Given the description of an element on the screen output the (x, y) to click on. 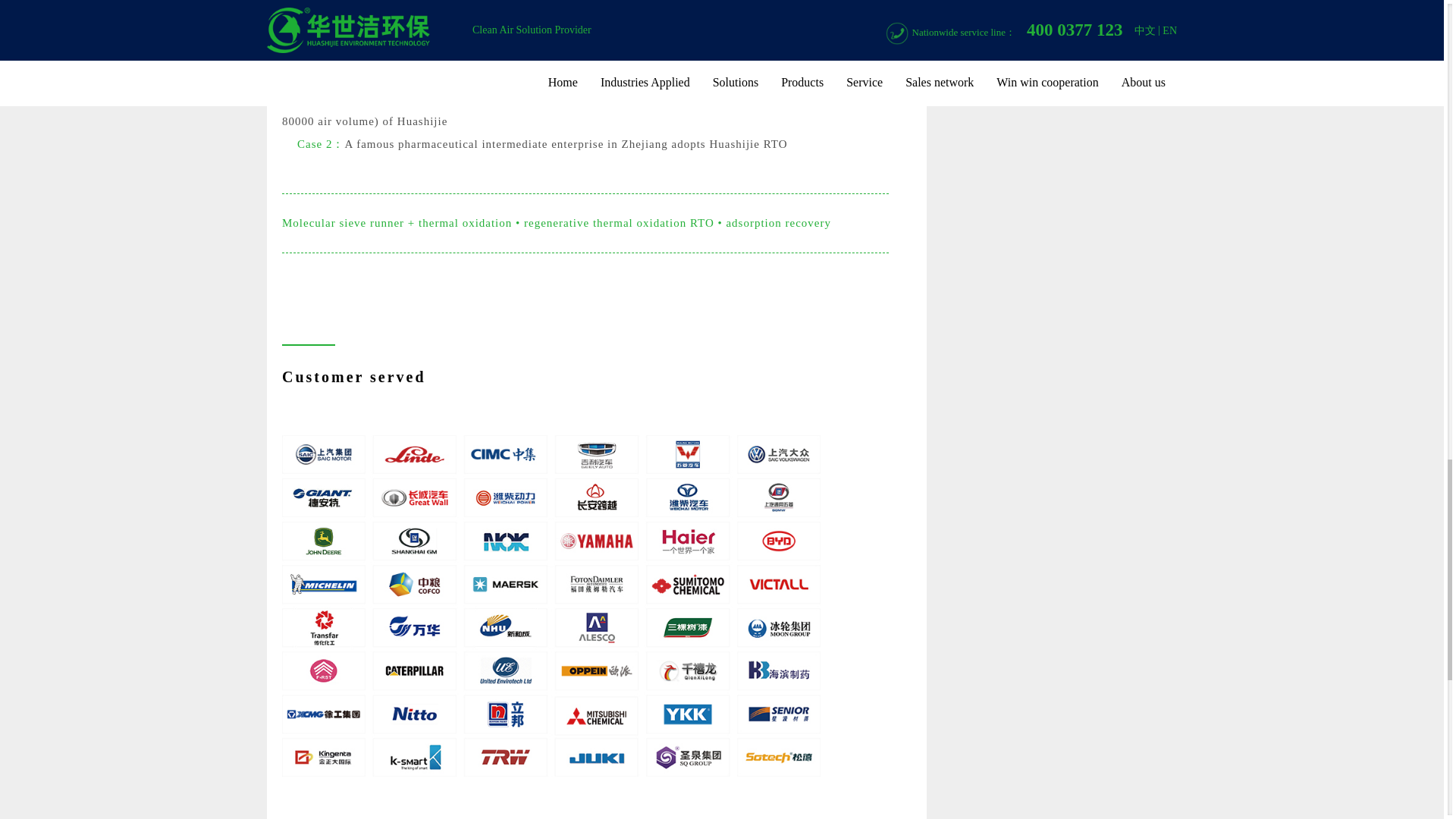
Submit (1055, 10)
